Given the description of an element on the screen output the (x, y) to click on. 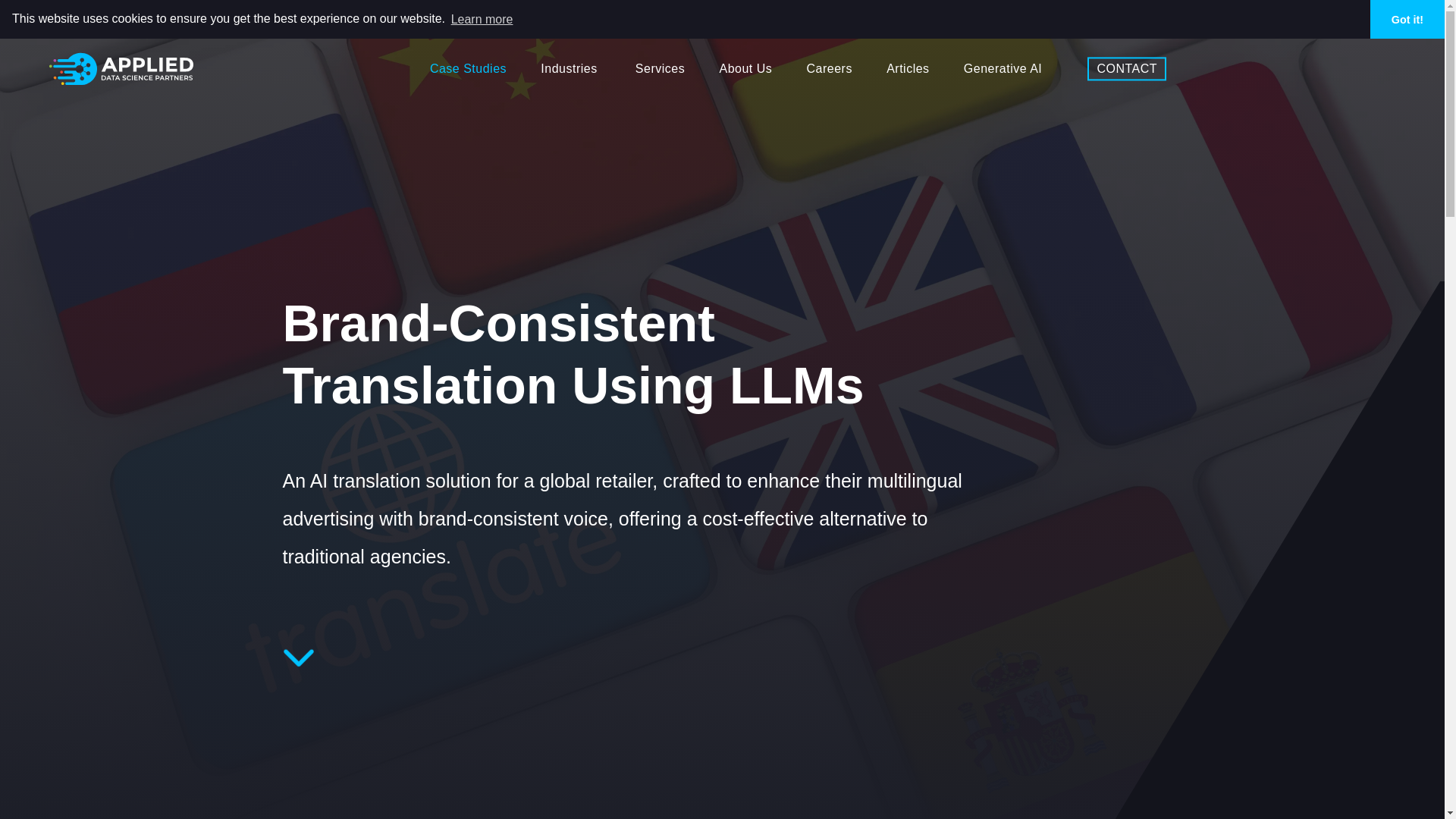
Industries (568, 68)
CONTACT (1126, 68)
Careers (828, 68)
Articles (907, 68)
Services (659, 68)
Generative AI (1002, 68)
Learn more (481, 18)
About Us (745, 68)
Case Studies (467, 68)
